Given the description of an element on the screen output the (x, y) to click on. 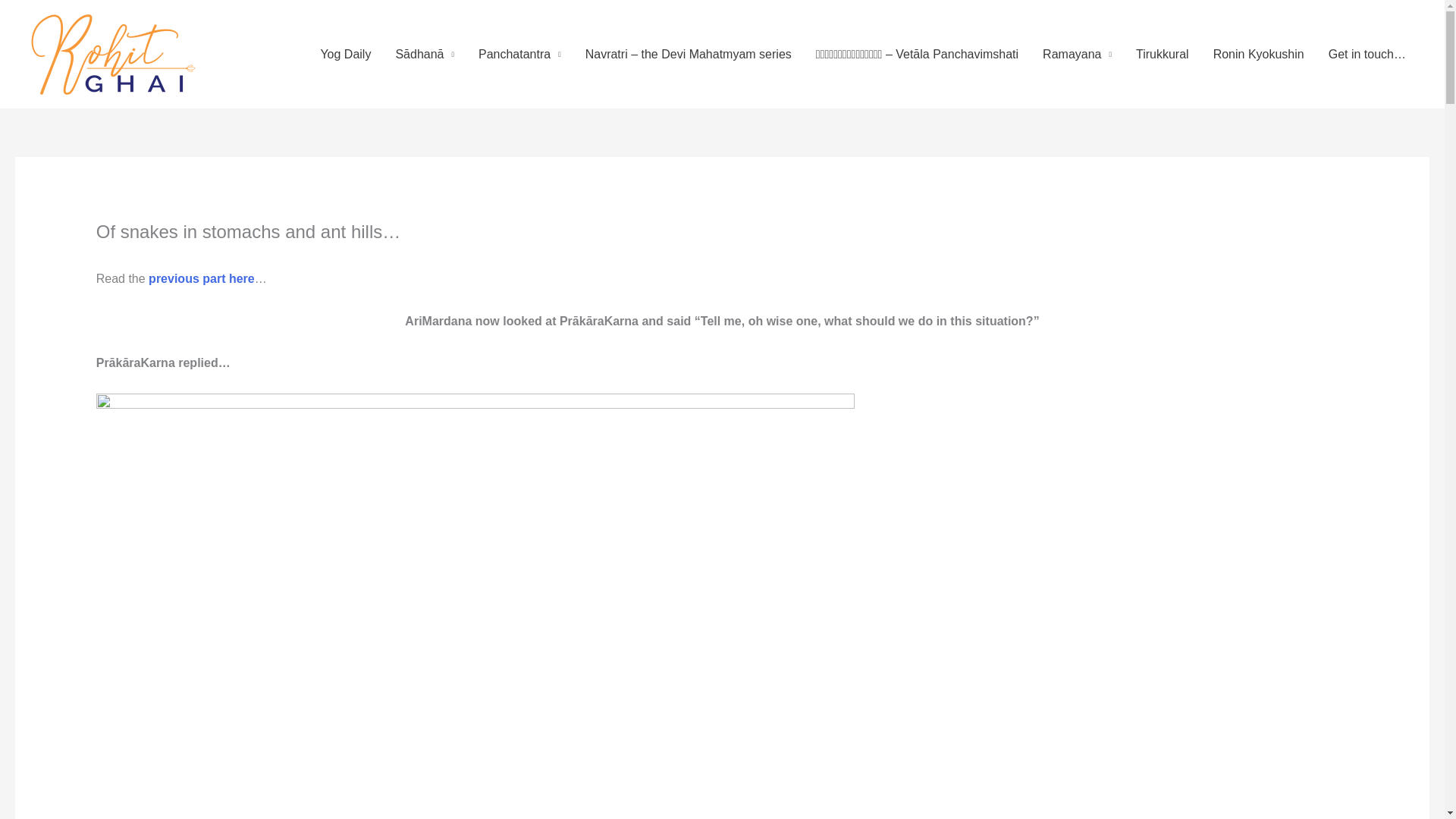
previous part here (201, 278)
Panchatantra (519, 54)
Ronin Kyokushin (1258, 54)
